Given the description of an element on the screen output the (x, y) to click on. 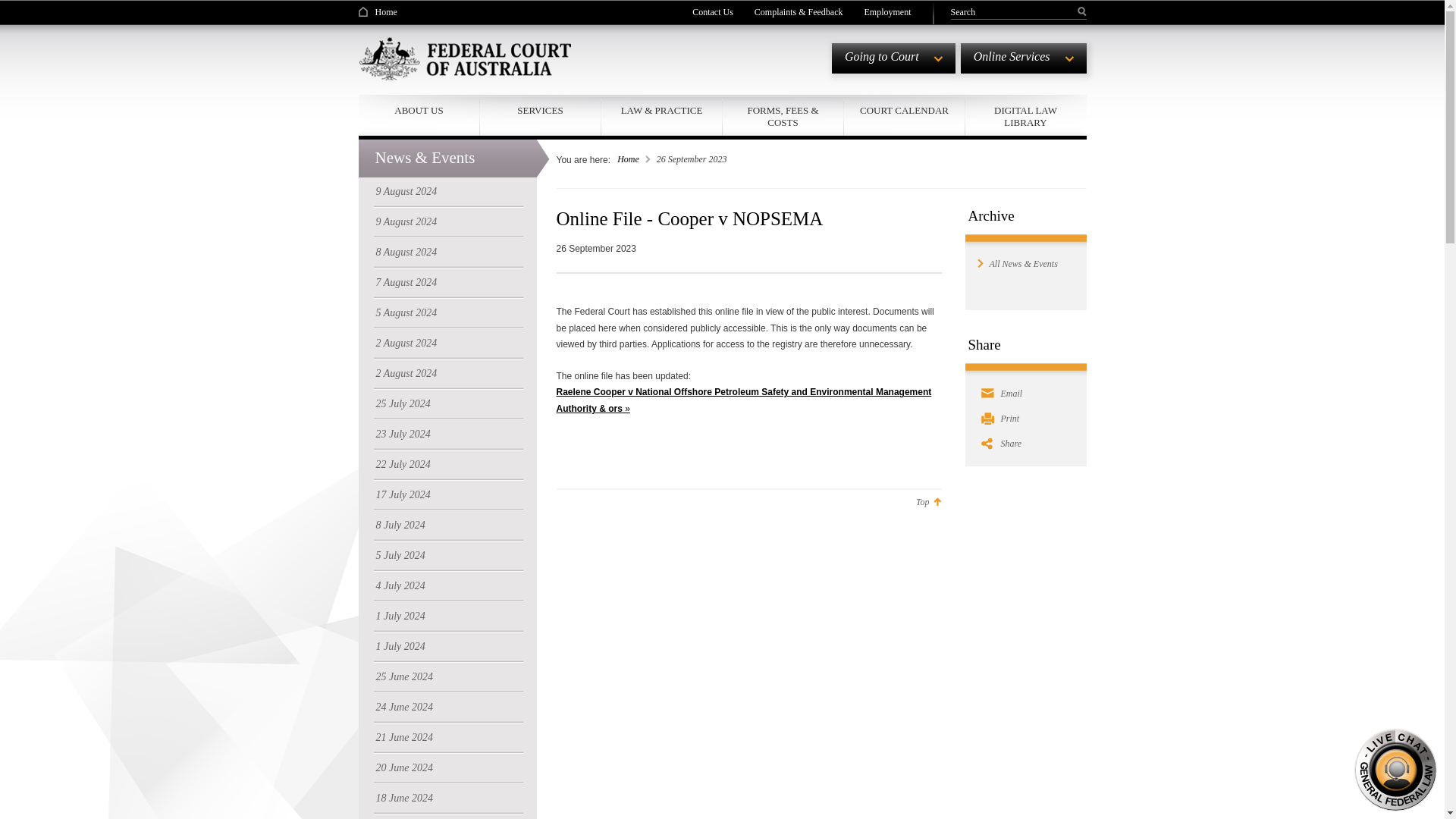
Online Services (1023, 58)
Employment (887, 11)
Home (377, 11)
Search (1013, 11)
Going to Court (893, 58)
Contact Us (713, 11)
